Given the description of an element on the screen output the (x, y) to click on. 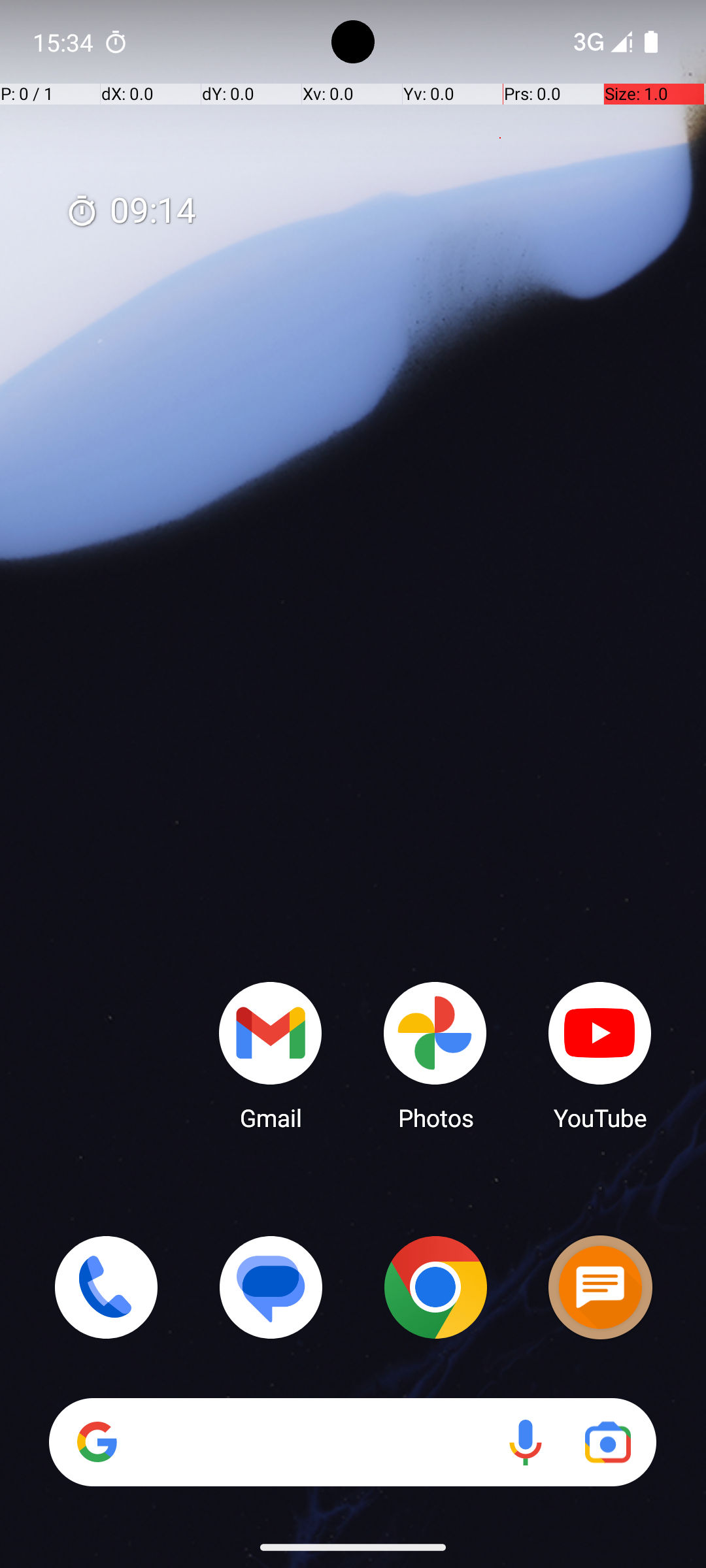
09:14 Element type: android.widget.TextView (130, 210)
